Given the description of an element on the screen output the (x, y) to click on. 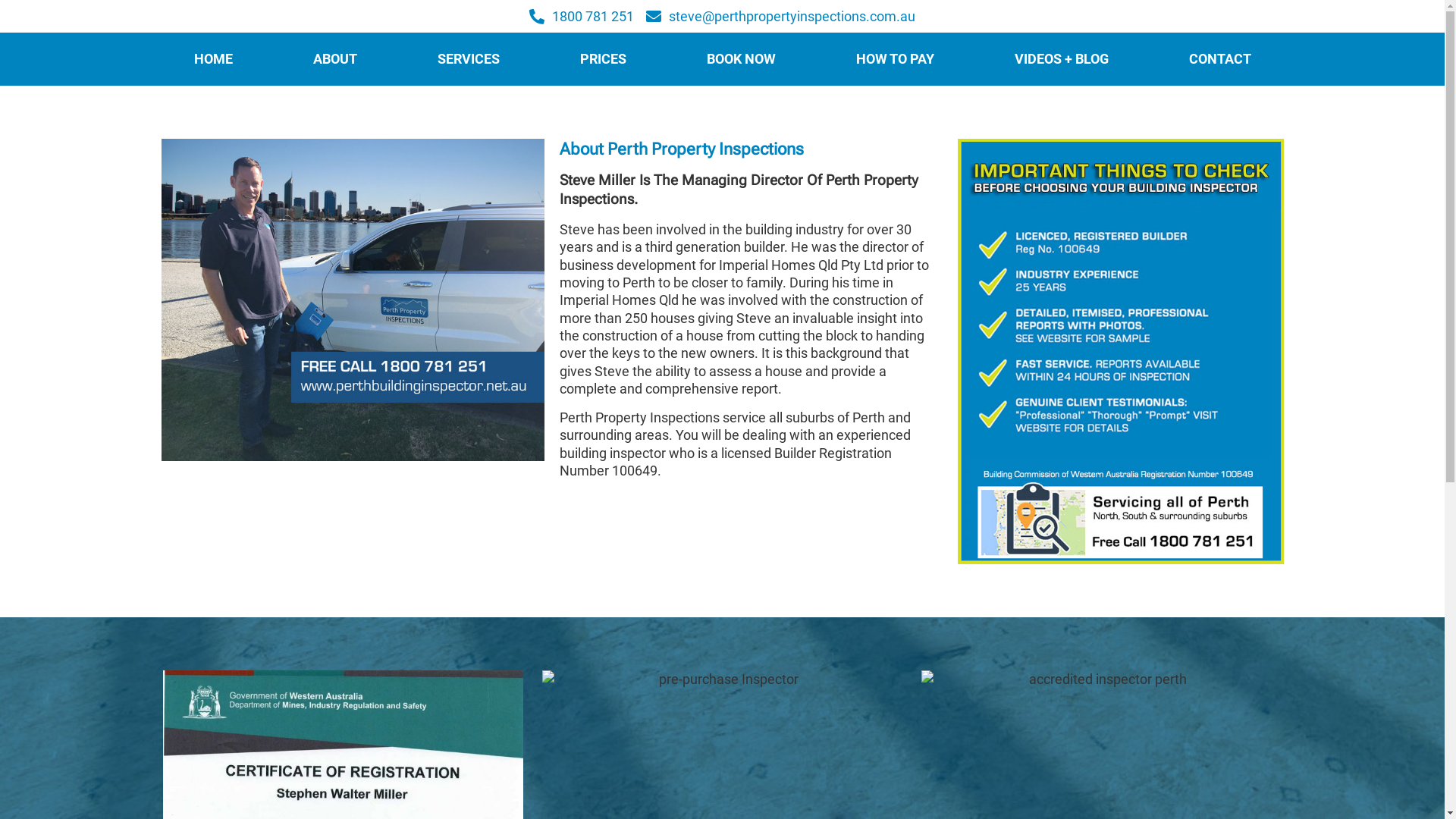
SERVICES Element type: text (468, 58)
steve@perthpropertyinspections.com.au Element type: text (780, 16)
BOOK NOW Element type: text (740, 58)
HOME Element type: text (212, 58)
VIDEOS + BLOG Element type: text (1060, 58)
ABOUT Element type: text (335, 58)
1800 781 251 Element type: text (581, 16)
HOW TO PAY Element type: text (894, 58)
CONTACT Element type: text (1219, 58)
PRICES Element type: text (602, 58)
